Given the description of an element on the screen output the (x, y) to click on. 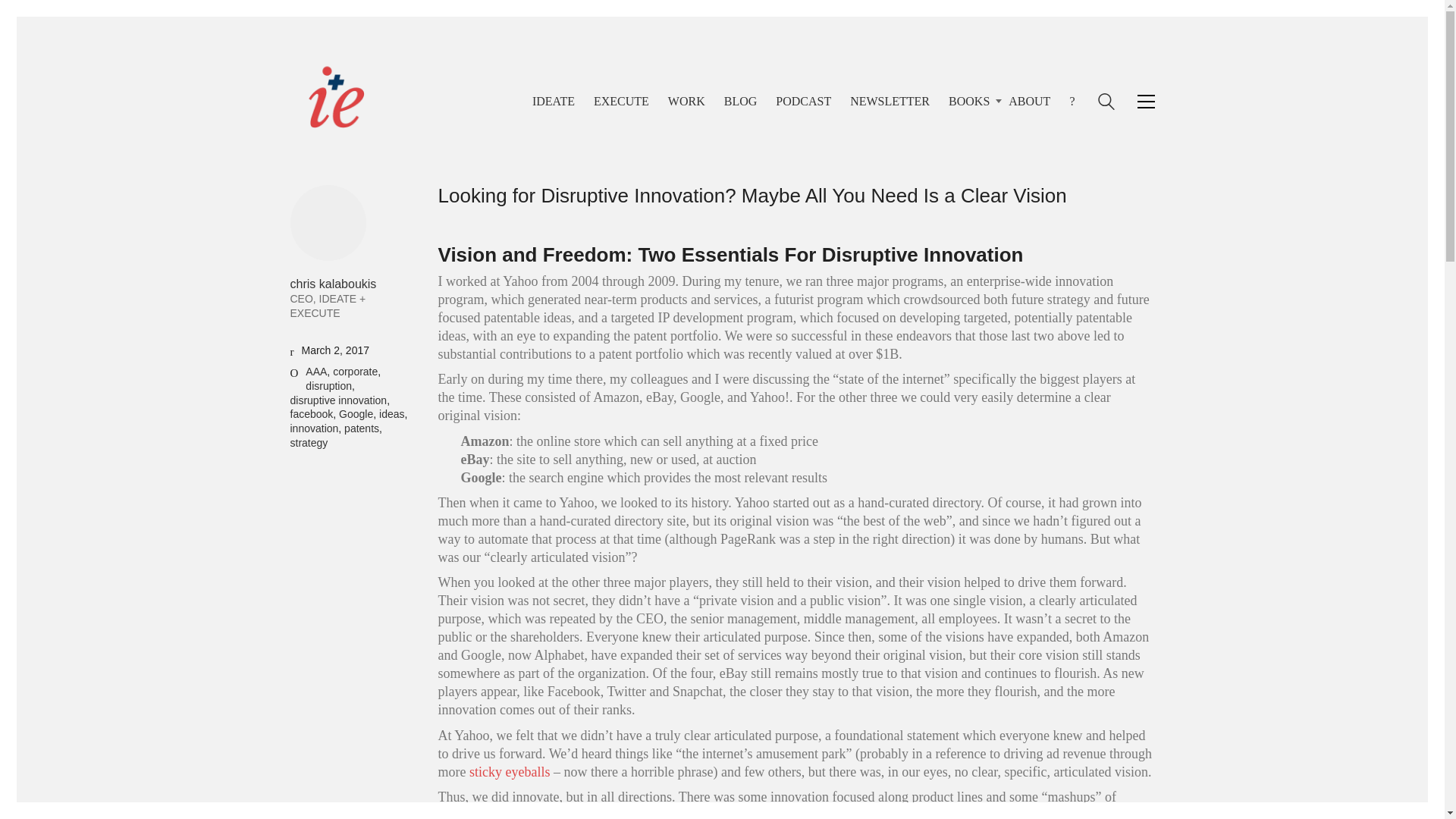
ABOUT (1029, 100)
BOOKS (969, 100)
IDEATE (553, 100)
WORK (686, 100)
EXECUTE (621, 100)
NEWSLETTER (890, 100)
PODCAST (803, 100)
BLOG (740, 100)
